Given the description of an element on the screen output the (x, y) to click on. 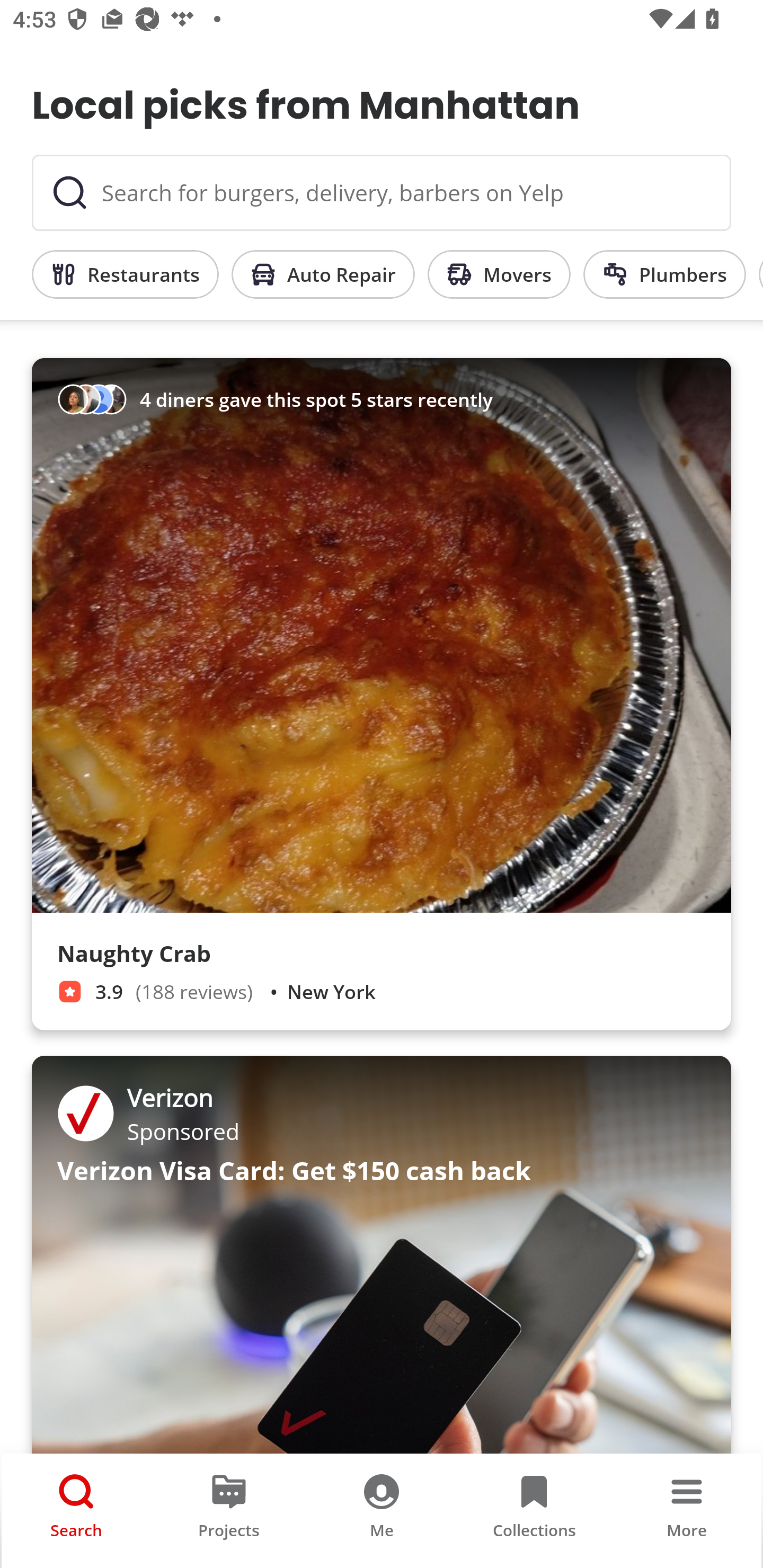
Search for burgers, delivery, barbers on Yelp (381, 192)
